Given the description of an element on the screen output the (x, y) to click on. 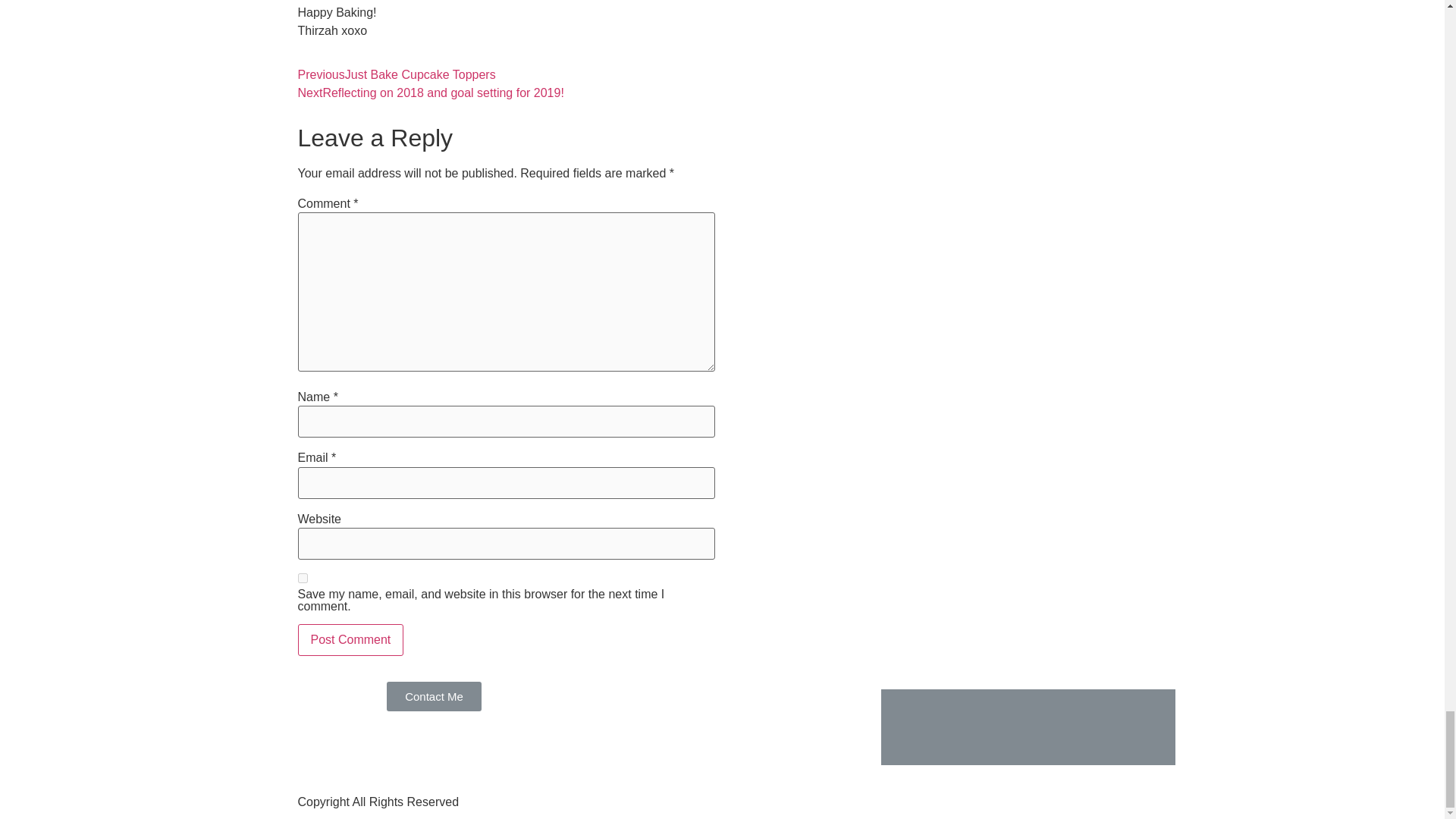
PreviousJust Bake Cupcake Toppers (396, 74)
yes (302, 578)
NextReflecting on 2018 and goal setting for 2019! (430, 92)
Post Comment (350, 640)
